Given the description of an element on the screen output the (x, y) to click on. 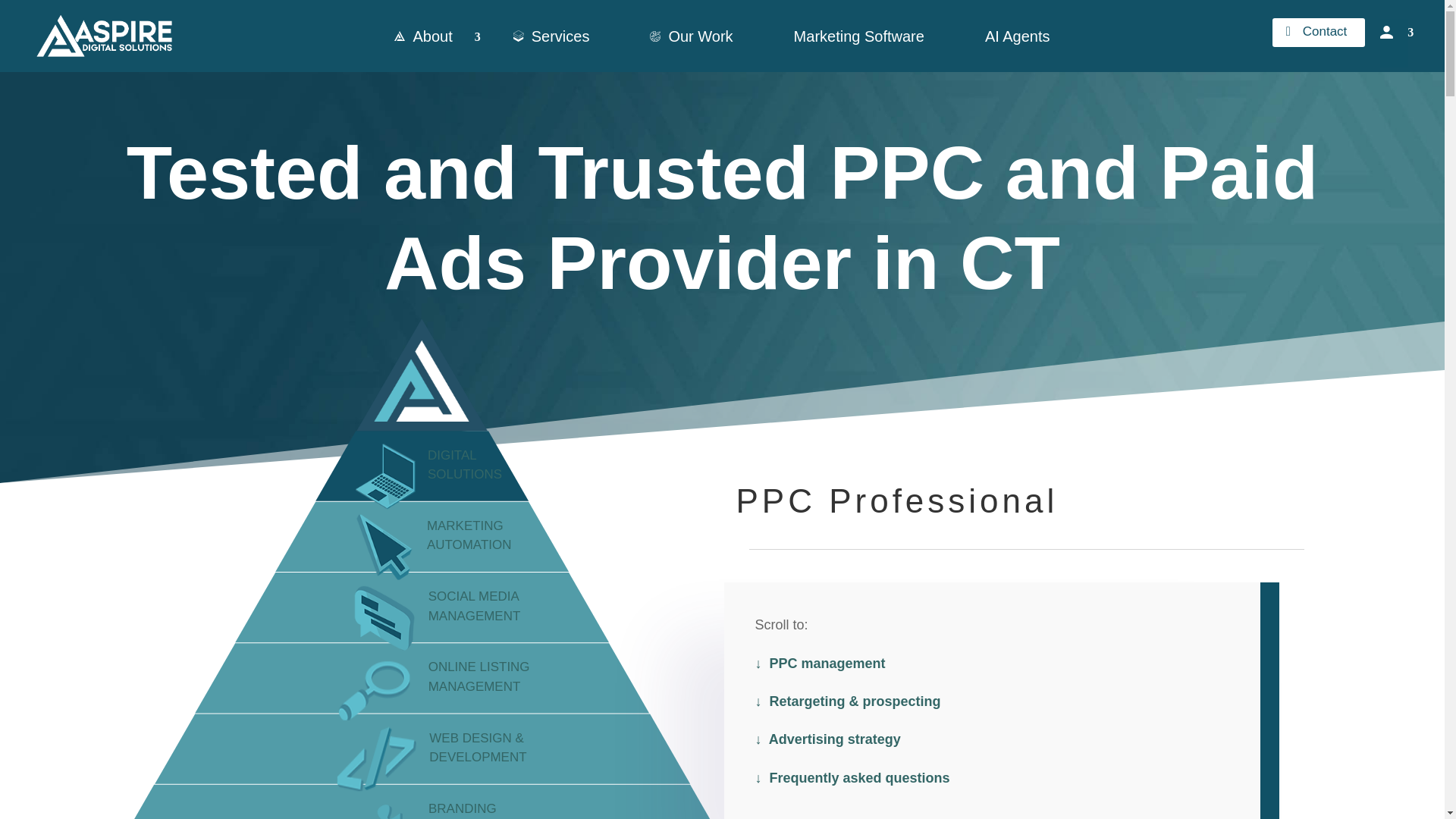
Tested and Trusted PPC and Paid Ads Provider in CT (378, 686)
Tested and Trusted PPC and Paid Ads Provider in CT (380, 756)
Marketing Software (859, 35)
Services (551, 35)
Tested and Trusted PPC and Paid Ads Provider in CT (386, 616)
Our Work (691, 35)
About (422, 35)
Tested and Trusted PPC and Paid Ads Provider in CT (388, 544)
Tested and Trusted PPC and Paid Ads Provider in CT (389, 474)
Tested and Trusted PPC and Paid Ads Provider in CT (418, 371)
Tested and Trusted PPC and Paid Ads Provider in CT (390, 808)
AI Agents (1017, 35)
